Given the description of an element on the screen output the (x, y) to click on. 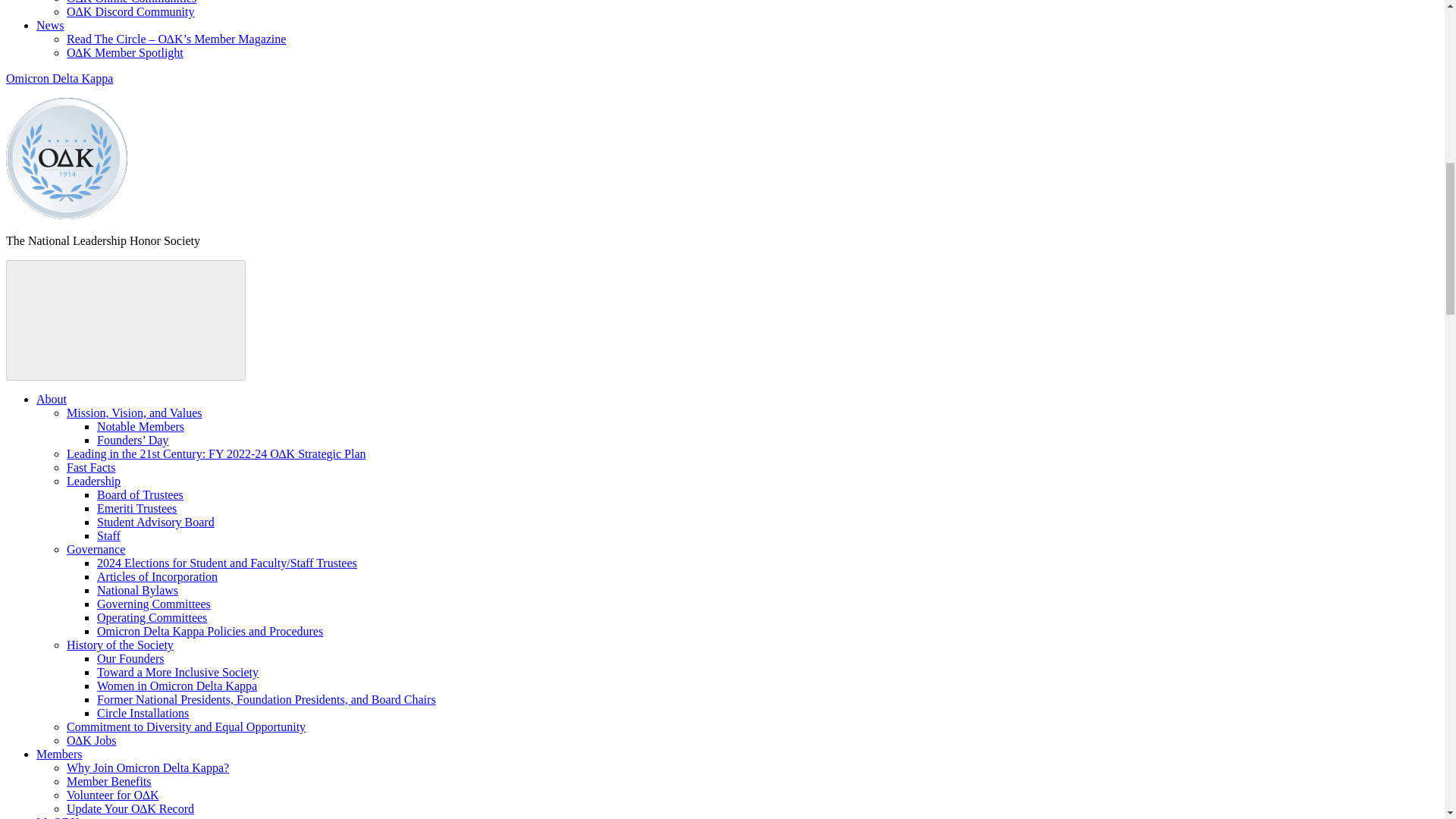
Omicron Delta Kappa (66, 214)
